Given the description of an element on the screen output the (x, y) to click on. 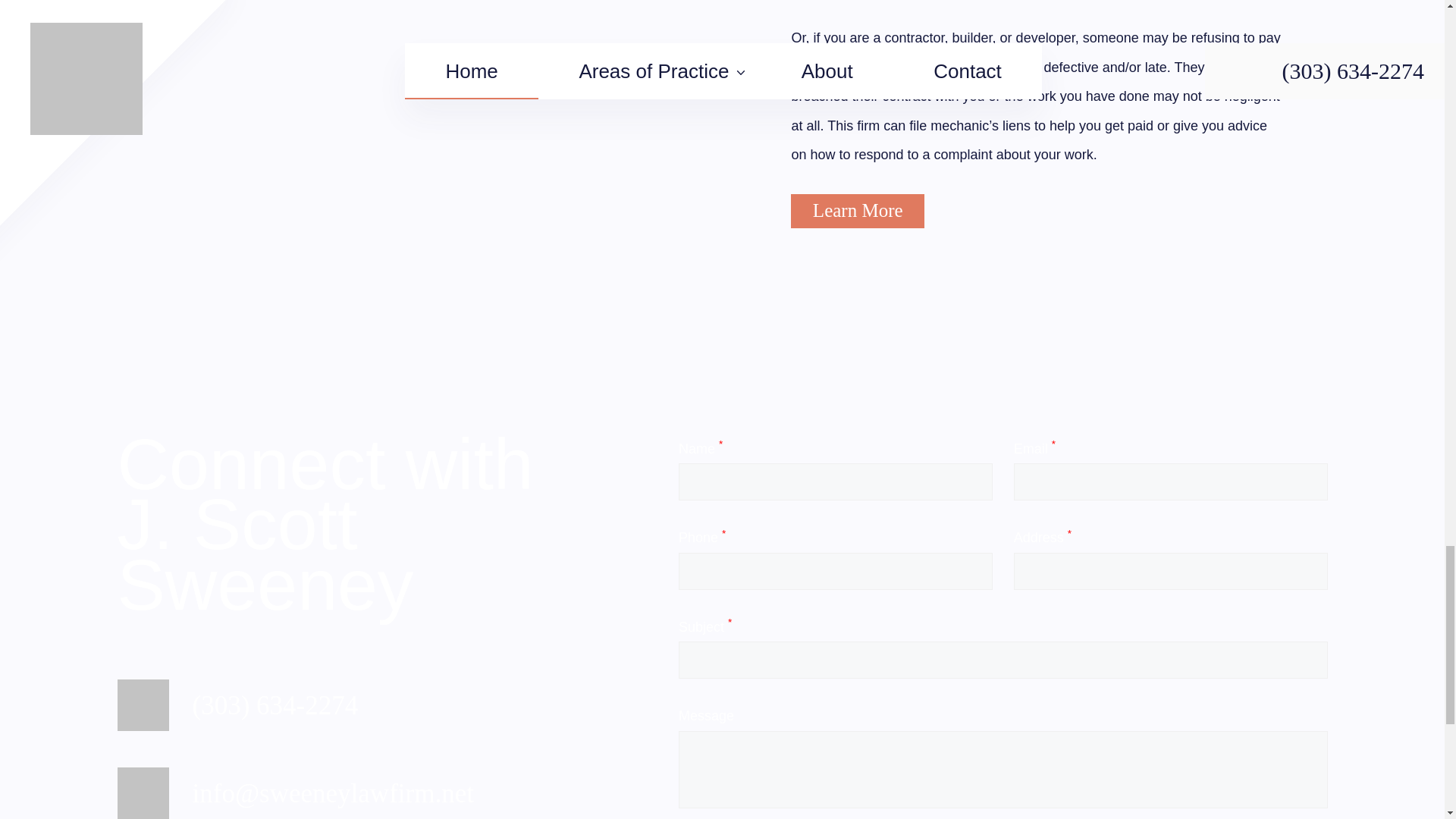
phone-icon (142, 705)
Learn More (856, 211)
email-icon (142, 793)
